Given the description of an element on the screen output the (x, y) to click on. 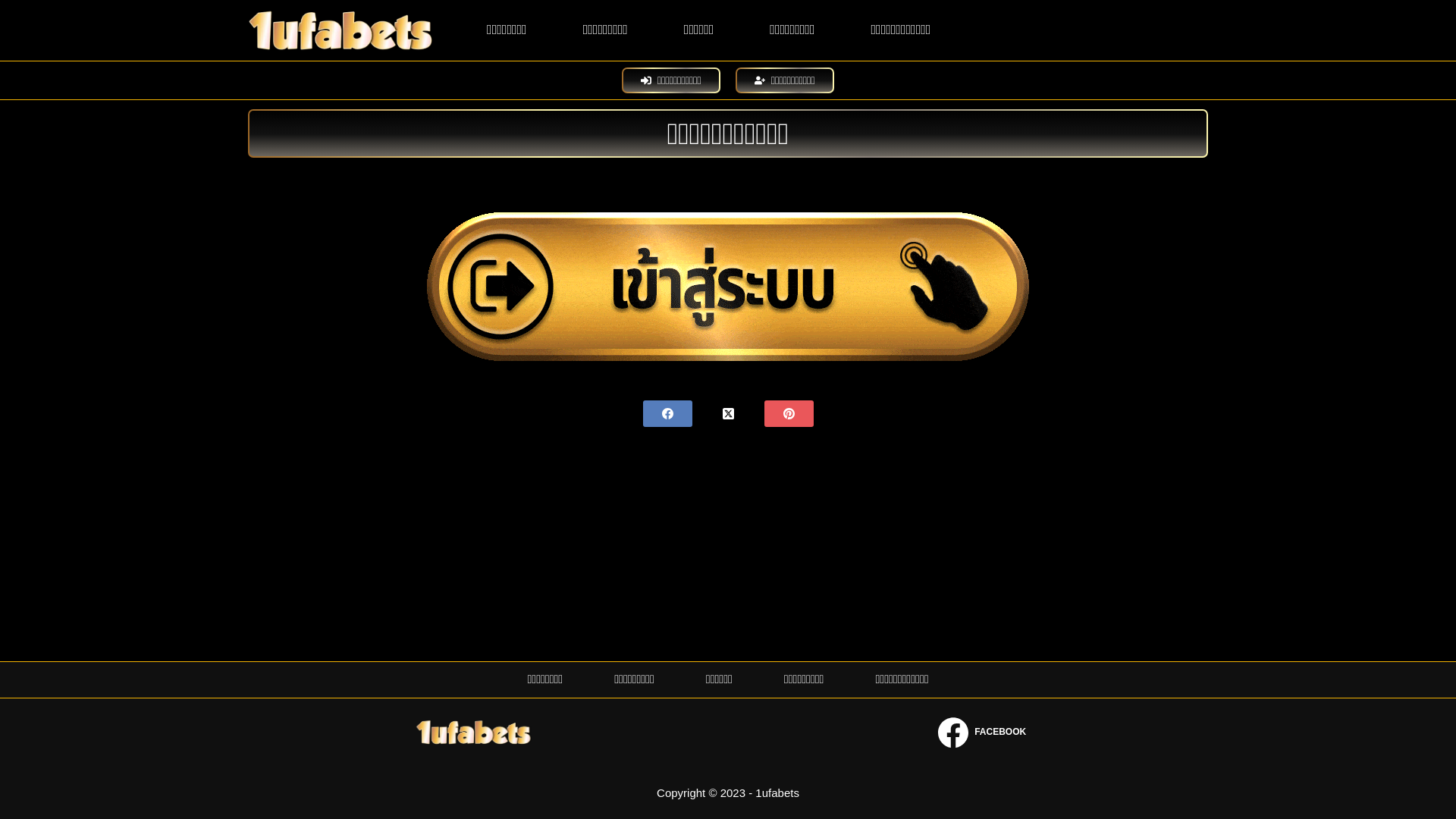
Skip to content Element type: text (15, 7)
FACEBOOK Element type: text (982, 732)
